Given the description of an element on the screen output the (x, y) to click on. 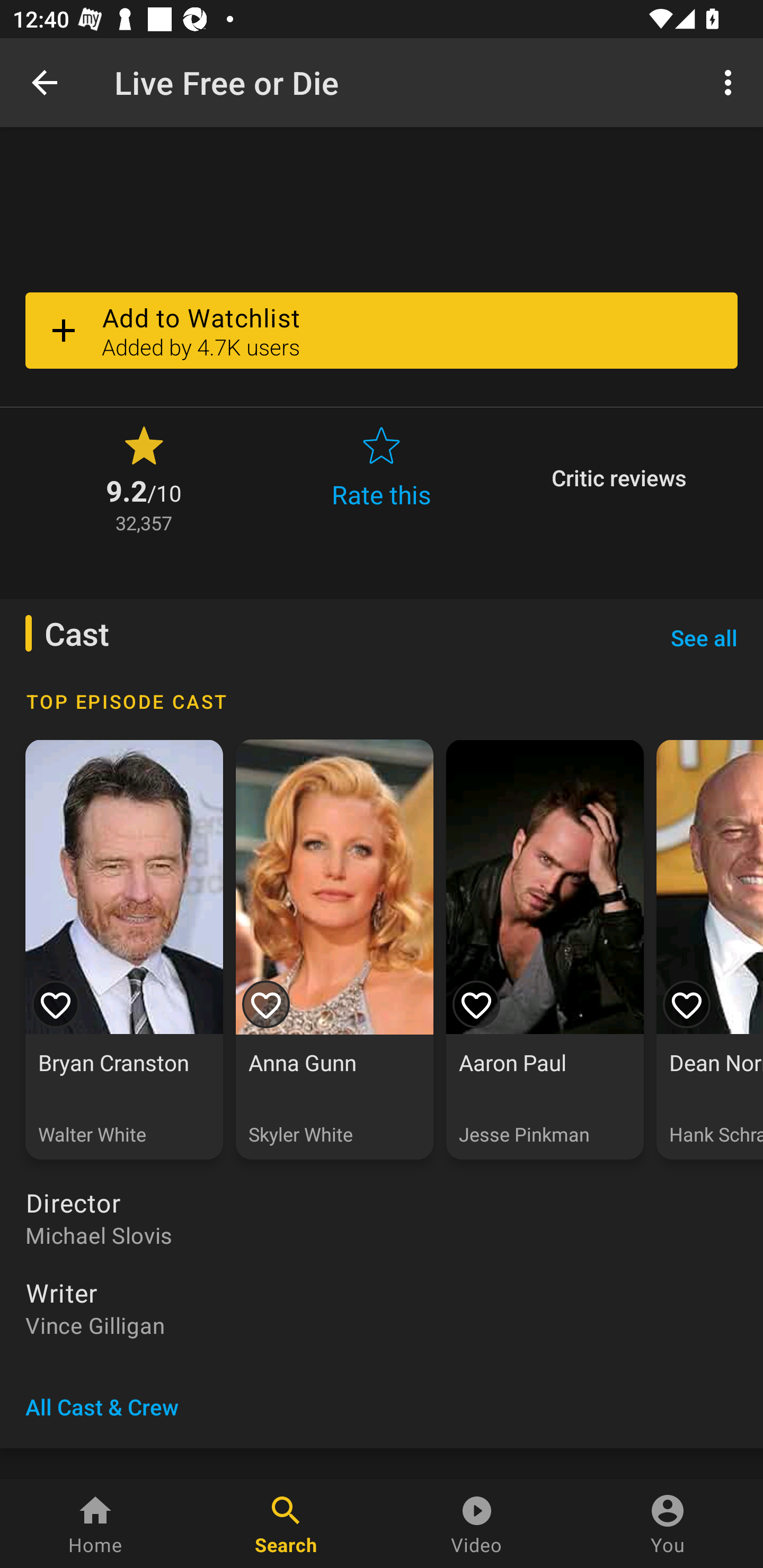
More options (731, 81)
Add to Watchlist Added by 4.7K users (381, 330)
9.2 /10 32,357 (143, 478)
Rate this (381, 478)
Critic reviews (618, 478)
See all See all Cast (703, 636)
Bryan Cranston Walter White (123, 950)
Anna Gunn Skyler White (334, 950)
Aaron Paul Jesse Pinkman (544, 950)
Michael Slovis (381, 1234)
Vince Gilligan (381, 1324)
All Cast & Crew (101, 1407)
Home (95, 1523)
Video (476, 1523)
You (667, 1523)
